Given the description of an element on the screen output the (x, y) to click on. 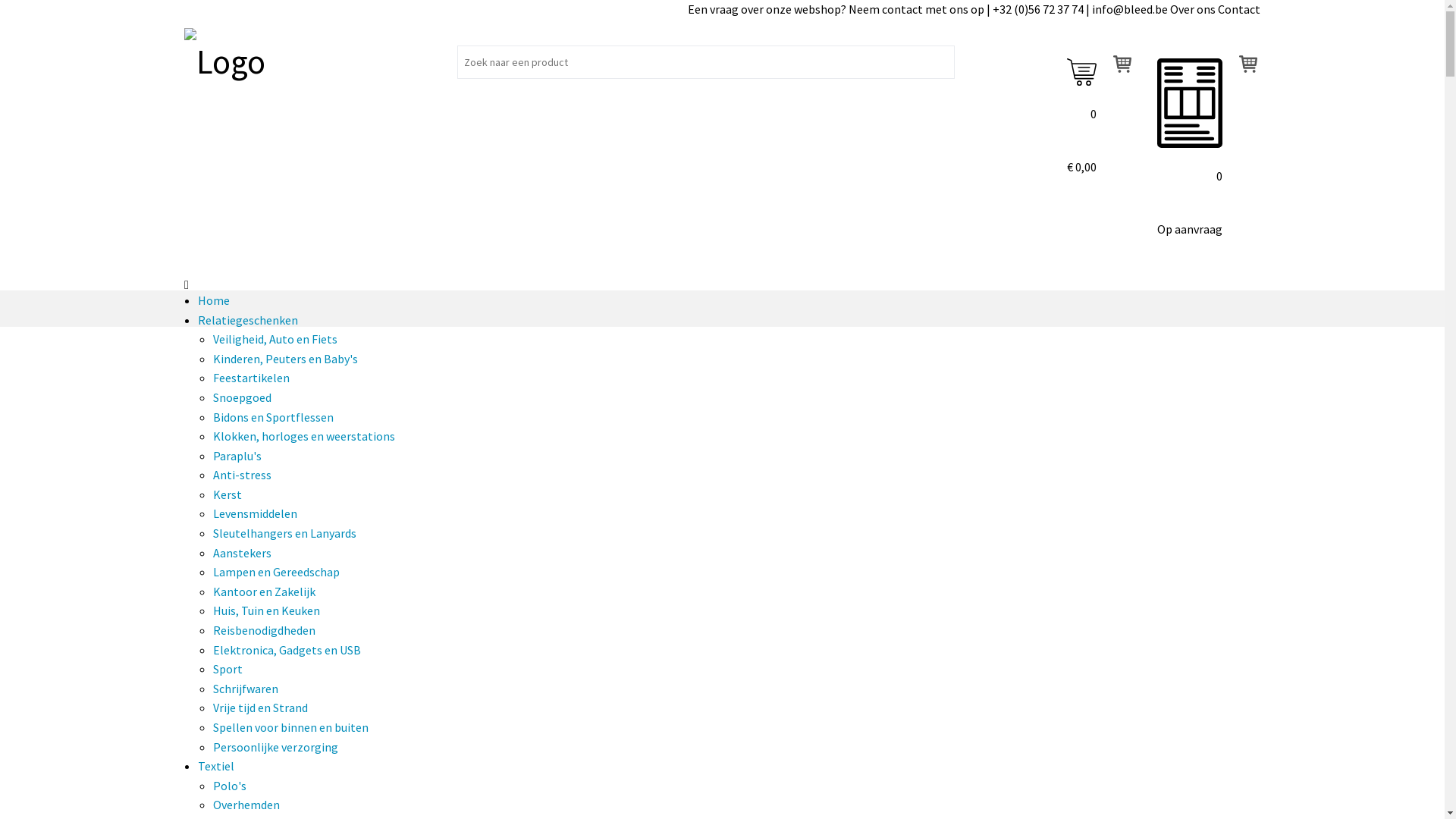
Huis, Tuin en Keuken Element type: text (266, 610)
Persoonlijke verzorging Element type: text (275, 746)
Spellen voor binnen en buiten Element type: text (290, 726)
Lampen en Gereedschap Element type: text (276, 571)
Veiligheid, Auto en Fiets Element type: text (275, 338)
Bidons en Sportflessen Element type: text (273, 416)
Relatiegeschenken Element type: text (247, 319)
Schrijfwaren Element type: text (245, 688)
Home Element type: text (213, 299)
Kantoor en Zakelijk Element type: text (264, 591)
Over ons Element type: text (1192, 8)
Klokken, horloges en weerstations Element type: text (304, 435)
Feestartikelen Element type: text (251, 377)
Textiel Element type: text (215, 765)
Paraplu's Element type: text (237, 455)
Sport Element type: text (227, 668)
Contact Element type: text (1238, 8)
Sleutelhangers en Lanyards Element type: text (284, 532)
Levensmiddelen Element type: text (255, 512)
Snoepgoed Element type: text (242, 396)
Anti-stress Element type: text (242, 474)
Aanstekers Element type: text (242, 552)
Kinderen, Peuters en Baby's Element type: text (285, 358)
Reisbenodigdheden Element type: text (264, 629)
Elektronica, Gadgets en USB Element type: text (286, 649)
Polo's Element type: text (229, 785)
Kerst Element type: text (227, 494)
Overhemden Element type: text (246, 804)
Vrije tijd en Strand Element type: text (260, 707)
